Given the description of an element on the screen output the (x, y) to click on. 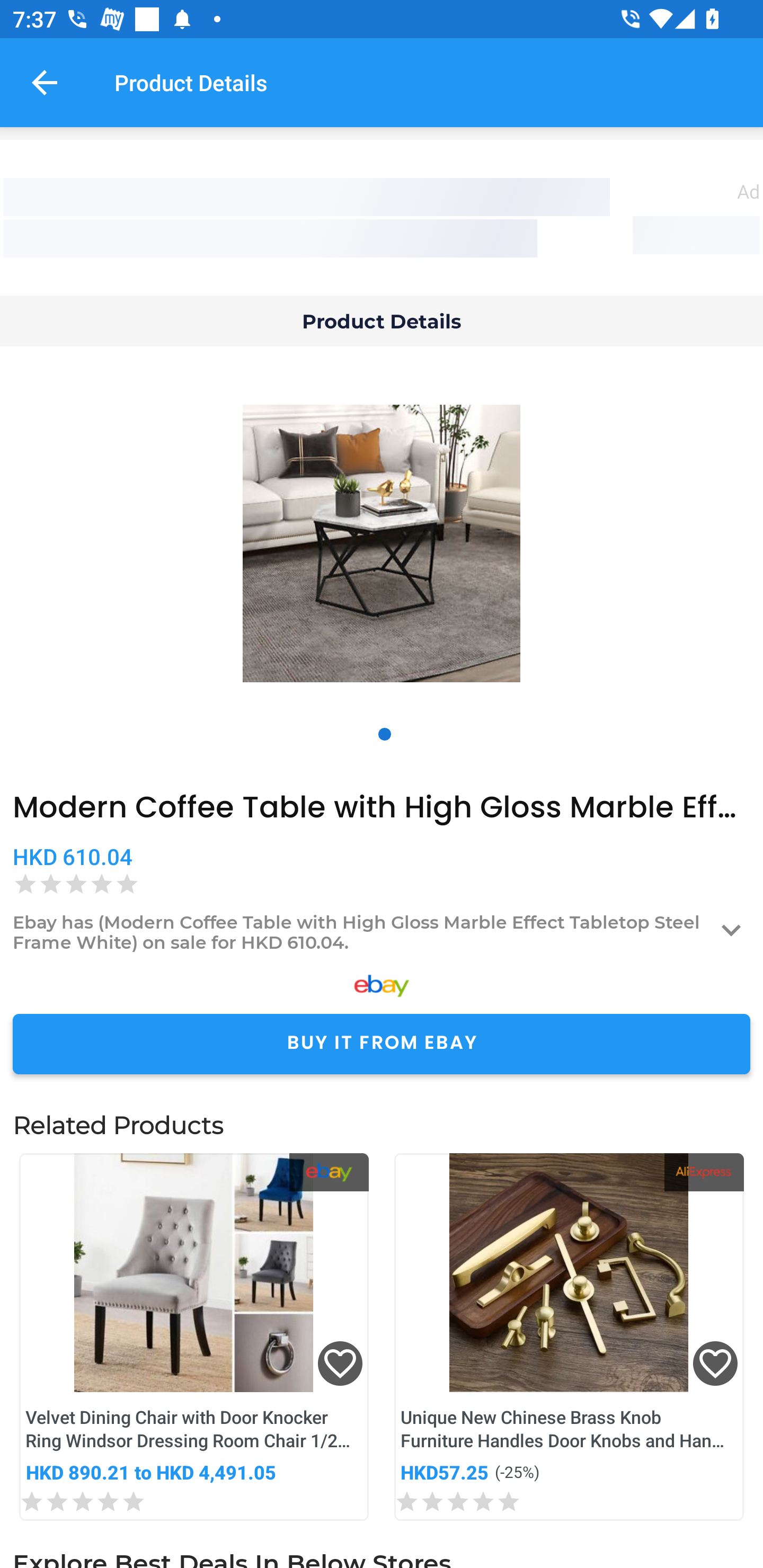
Navigate up (44, 82)
BUY IT FROM EBAY (381, 1044)
